Given the description of an element on the screen output the (x, y) to click on. 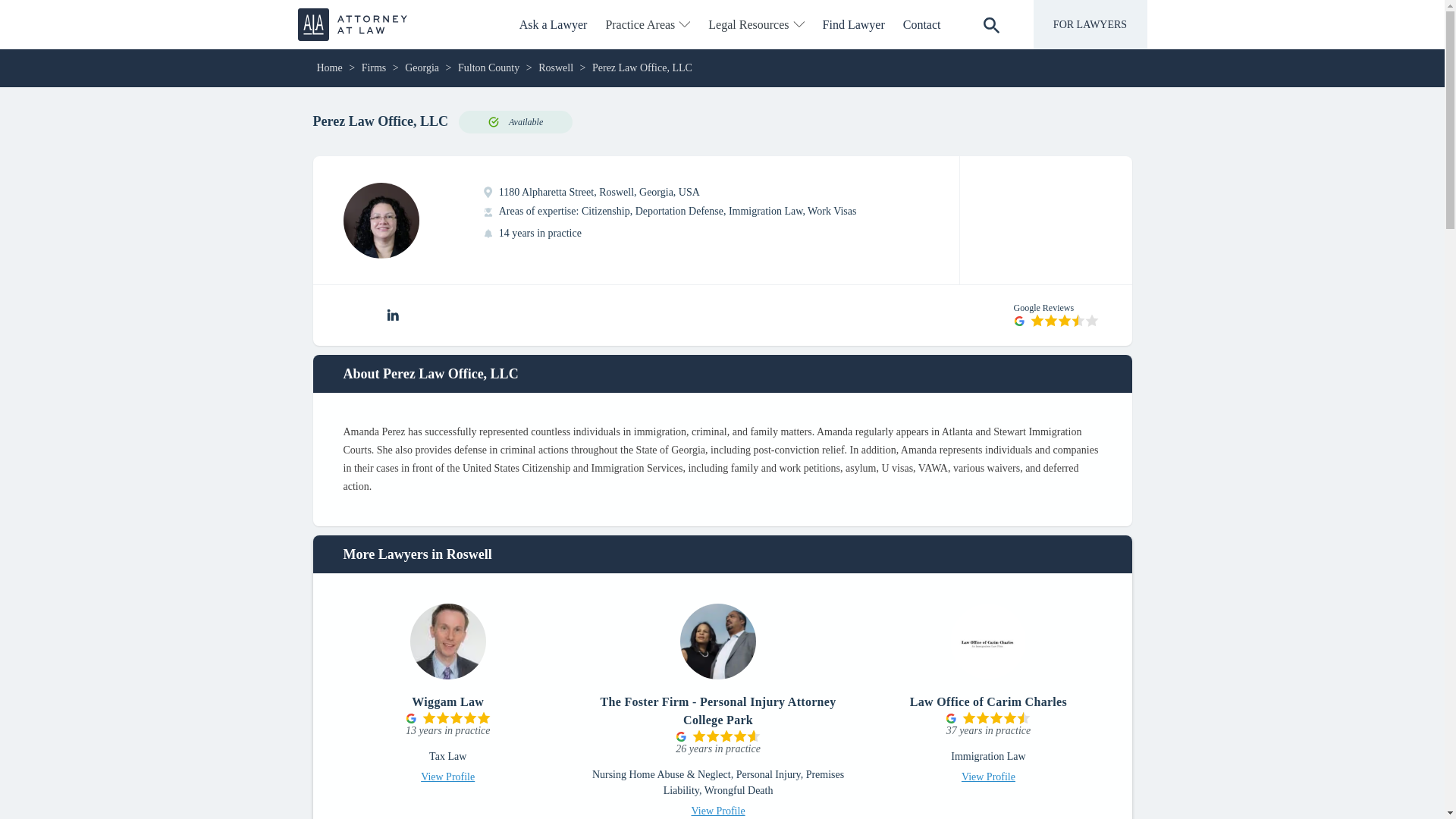
Ask a Lawyer (553, 24)
Practice Areas (646, 24)
